Given the description of an element on the screen output the (x, y) to click on. 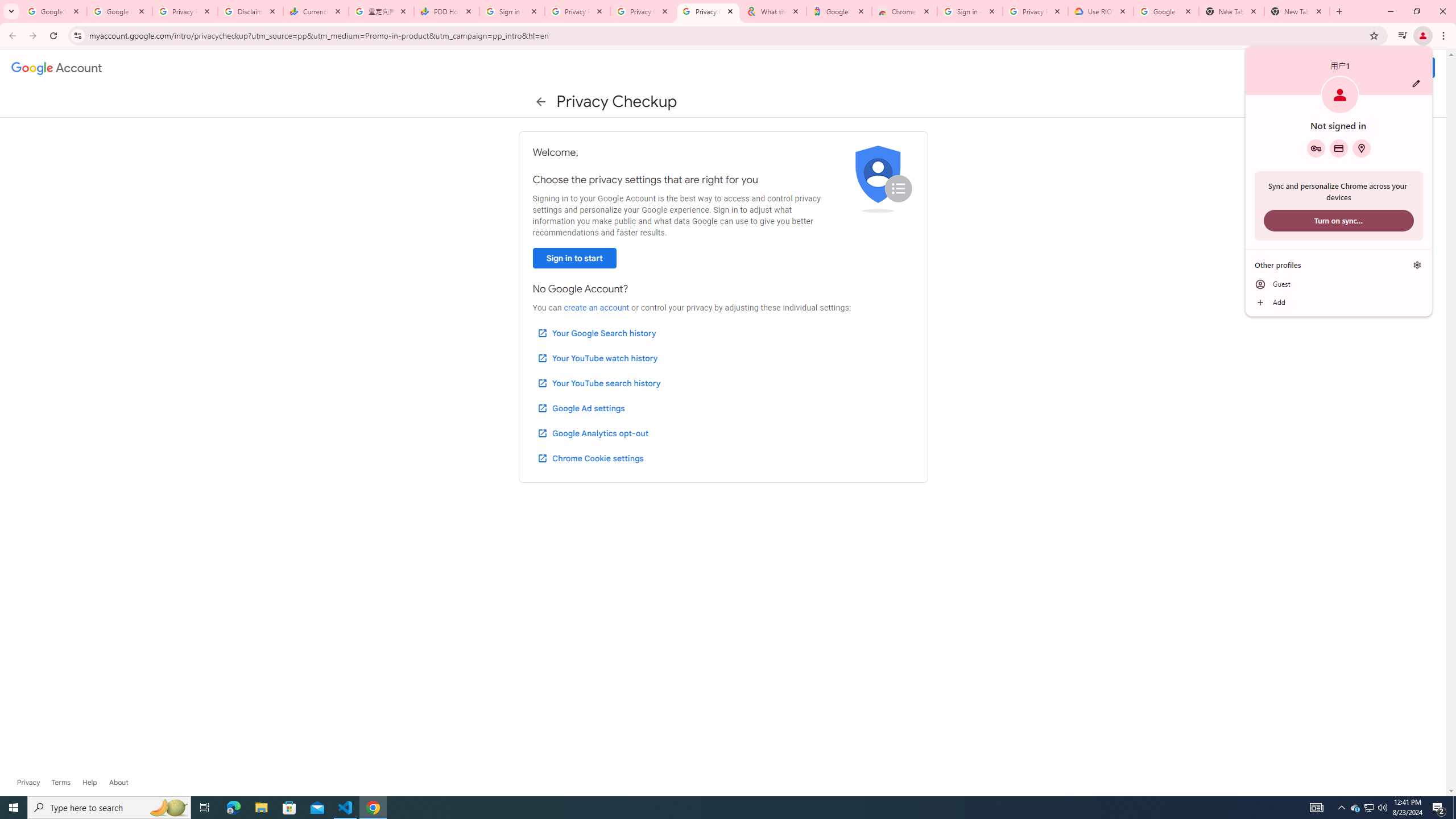
Microsoft Store (289, 807)
create an account (1355, 807)
Privacy Checkup (595, 307)
Customize profile (643, 11)
Google Chrome - 1 running window (1415, 83)
Sign in - Google Accounts (373, 807)
Google (512, 11)
PDD Holdings Inc - ADR (PDD) Price & News - Google Finance (838, 11)
